Given the description of an element on the screen output the (x, y) to click on. 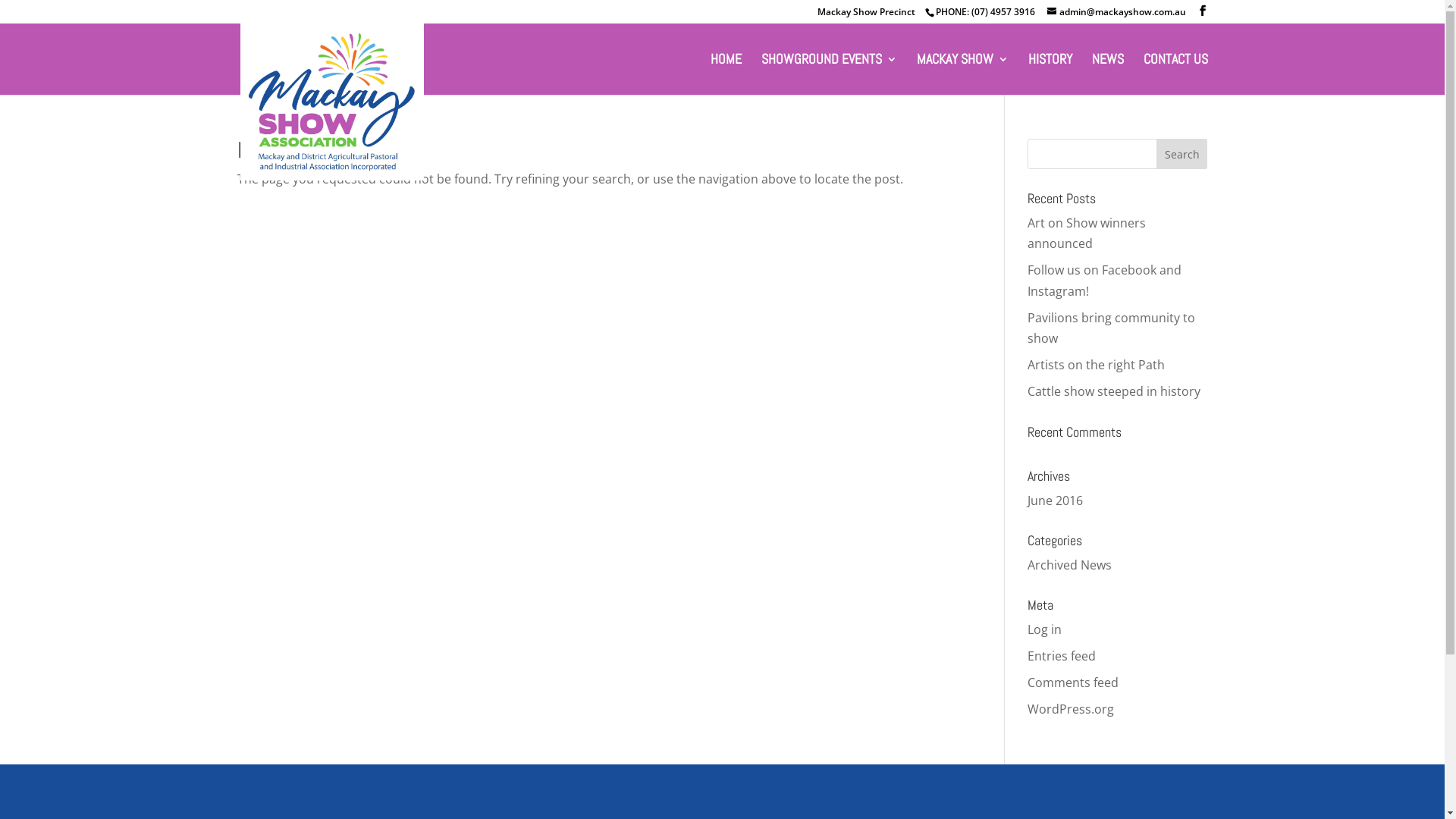
Comments feed Element type: text (1072, 682)
June 2016 Element type: text (1054, 499)
WordPress.org Element type: text (1070, 708)
PHONE: (07) 4957 3916 Element type: text (984, 11)
Artists on the right Path Element type: text (1095, 364)
Cattle show steeped in history Element type: text (1113, 390)
Art on Show winners announced Element type: text (1086, 232)
MACKAY SHOW Element type: text (961, 73)
NEWS Element type: text (1107, 73)
Search Element type: text (1182, 153)
CONTACT US Element type: text (1175, 73)
Pavilions bring community to show Element type: text (1111, 327)
Log in Element type: text (1044, 629)
HISTORY Element type: text (1050, 73)
Archived News Element type: text (1069, 564)
SHOWGROUND EVENTS Element type: text (829, 73)
HOME Element type: text (724, 73)
admin@mackayshow.com.au Element type: text (1115, 11)
Entries feed Element type: text (1061, 655)
Follow us on Facebook and Instagram! Element type: text (1104, 279)
